Given the description of an element on the screen output the (x, y) to click on. 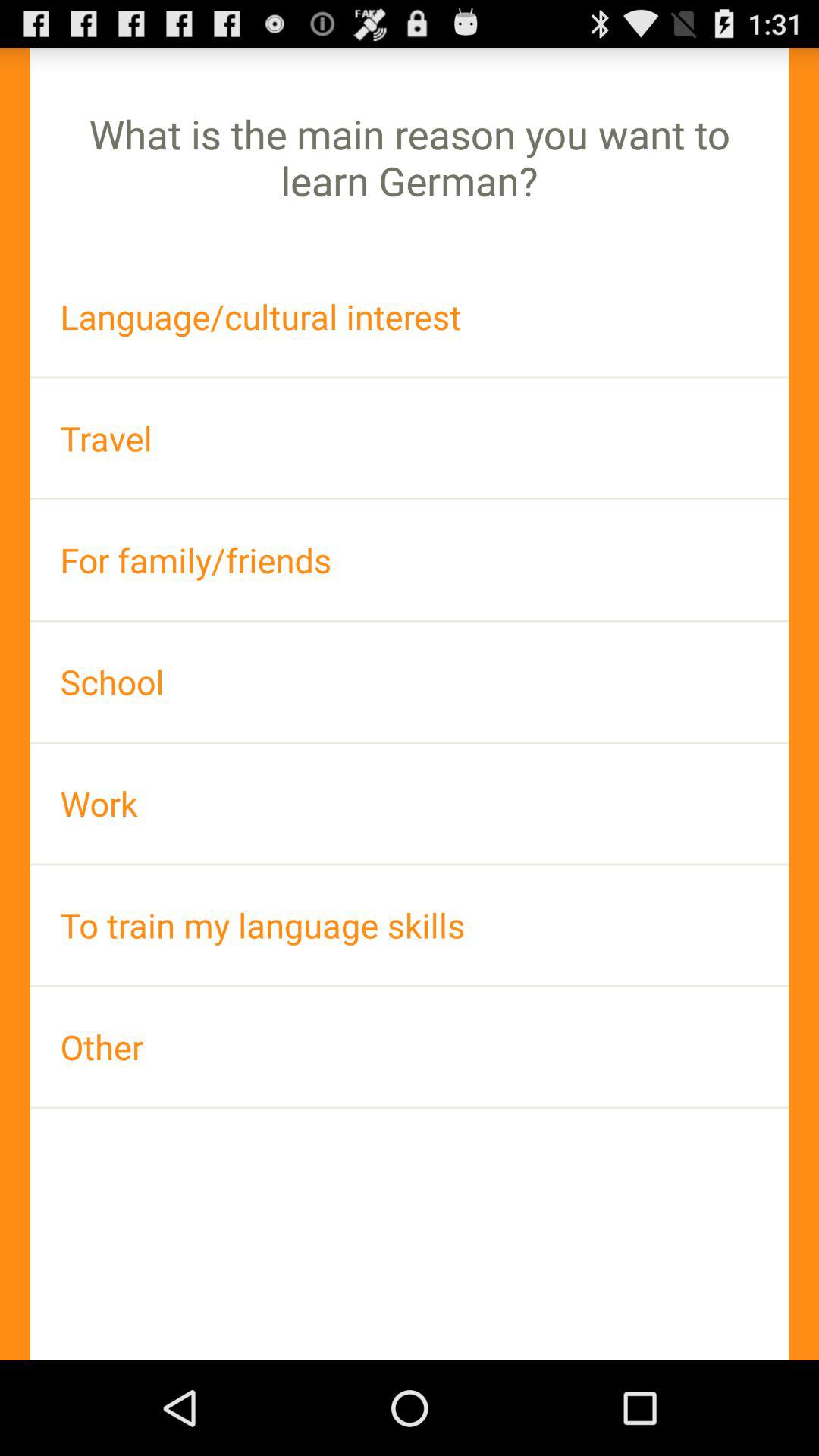
turn off the travel item (409, 438)
